Given the description of an element on the screen output the (x, y) to click on. 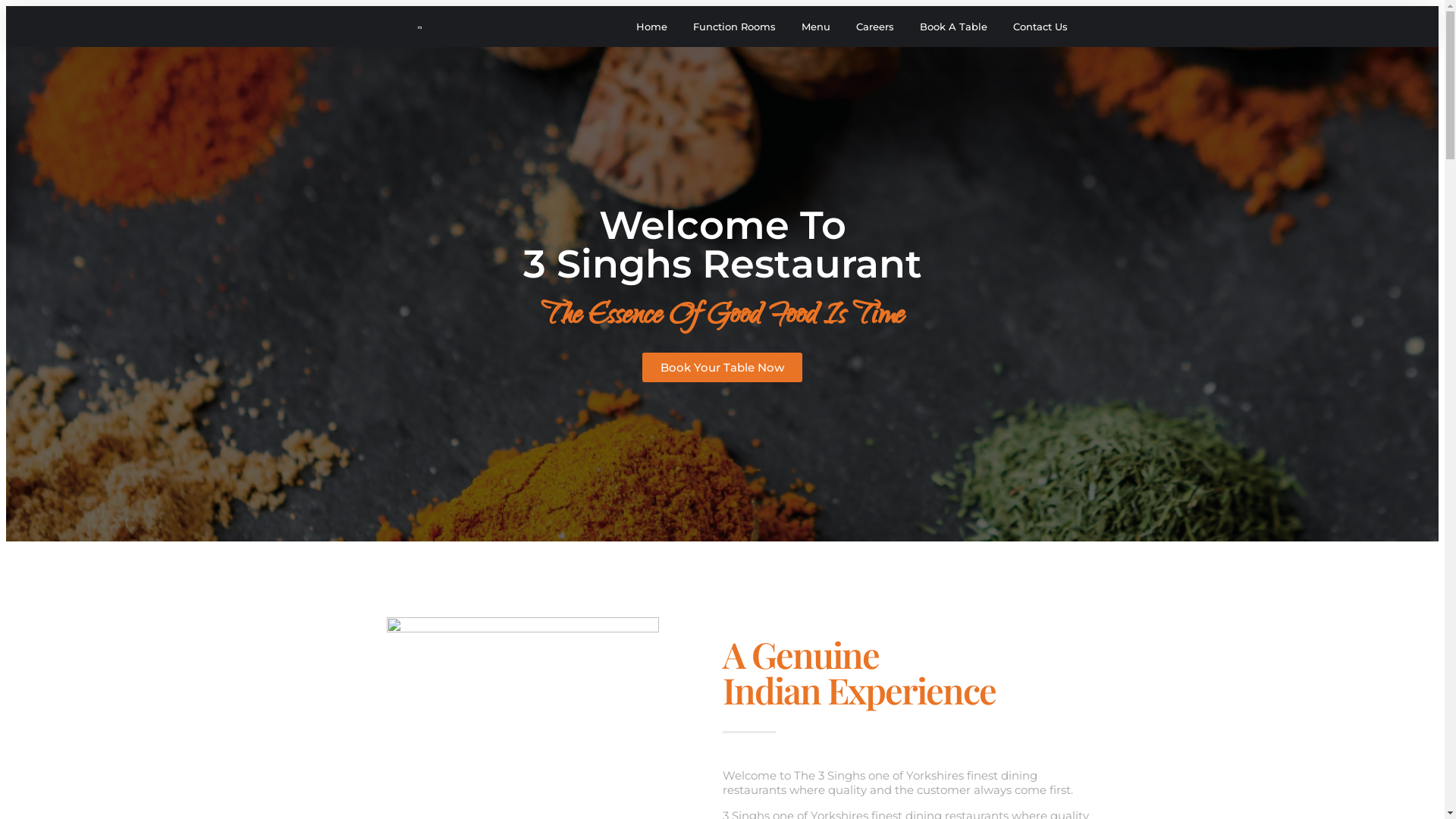
Contact Us Element type: text (1040, 26)
Function Rooms Element type: text (734, 26)
Careers Element type: text (874, 26)
Book A Table Element type: text (953, 26)
Book Your Table Now Element type: text (722, 367)
Home Element type: text (651, 26)
Menu Element type: text (815, 26)
